Given the description of an element on the screen output the (x, y) to click on. 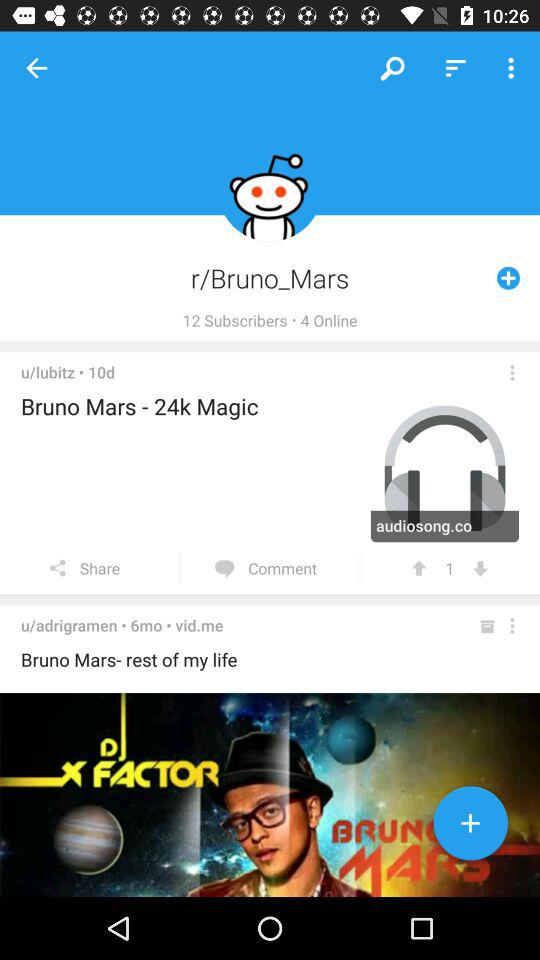
open options or settings menu (512, 625)
